Given the description of an element on the screen output the (x, y) to click on. 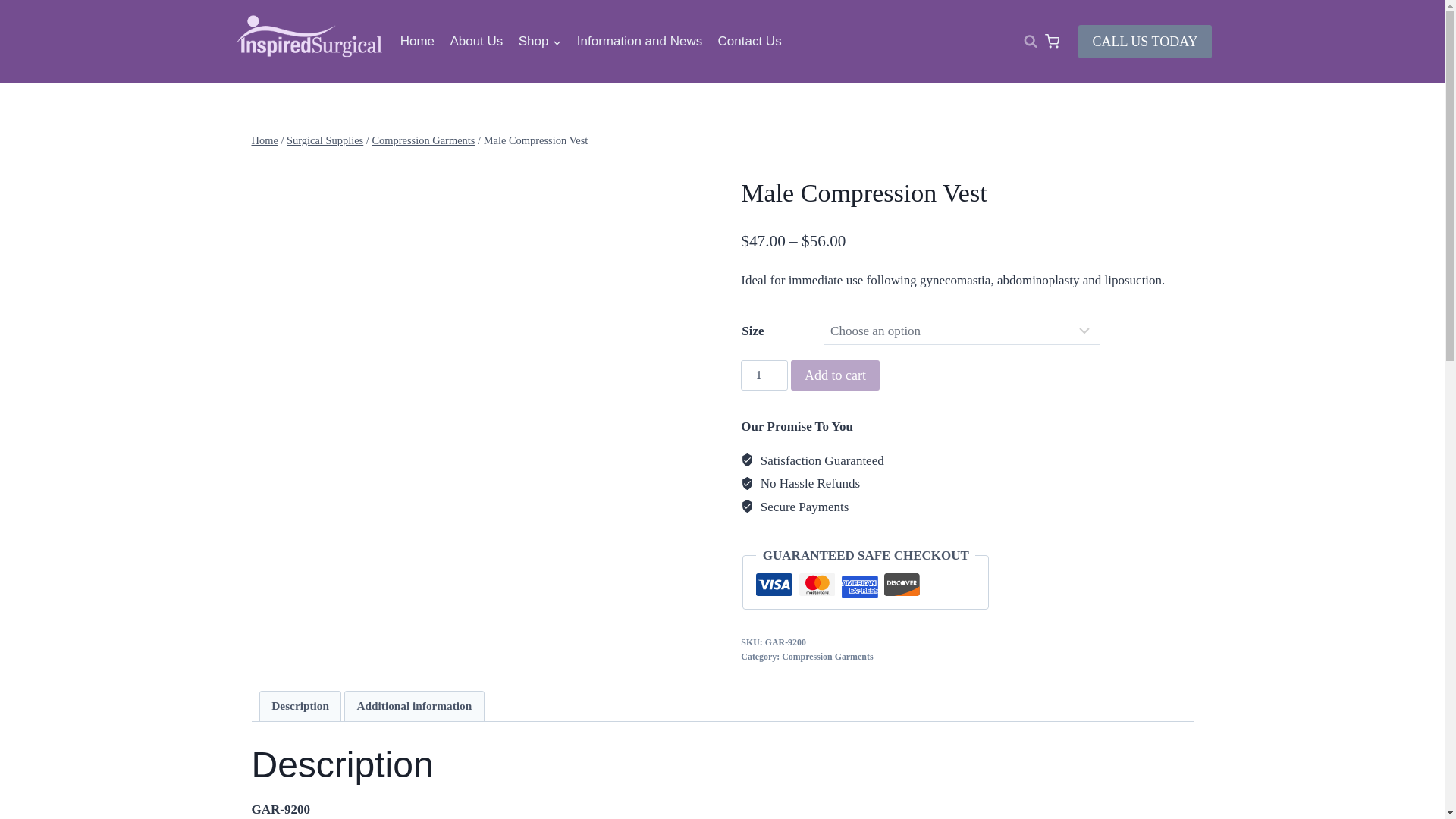
Home (264, 140)
Home (417, 41)
Compression Garments (422, 140)
Surgical Supplies (324, 140)
Contact Us (749, 41)
Compression Garments (826, 656)
CALL US TODAY (1144, 41)
Additional information (414, 706)
About Us (476, 41)
Add to cart (834, 375)
Description (300, 706)
Shop (540, 41)
Information and News (639, 41)
1 (764, 375)
